Given the description of an element on the screen output the (x, y) to click on. 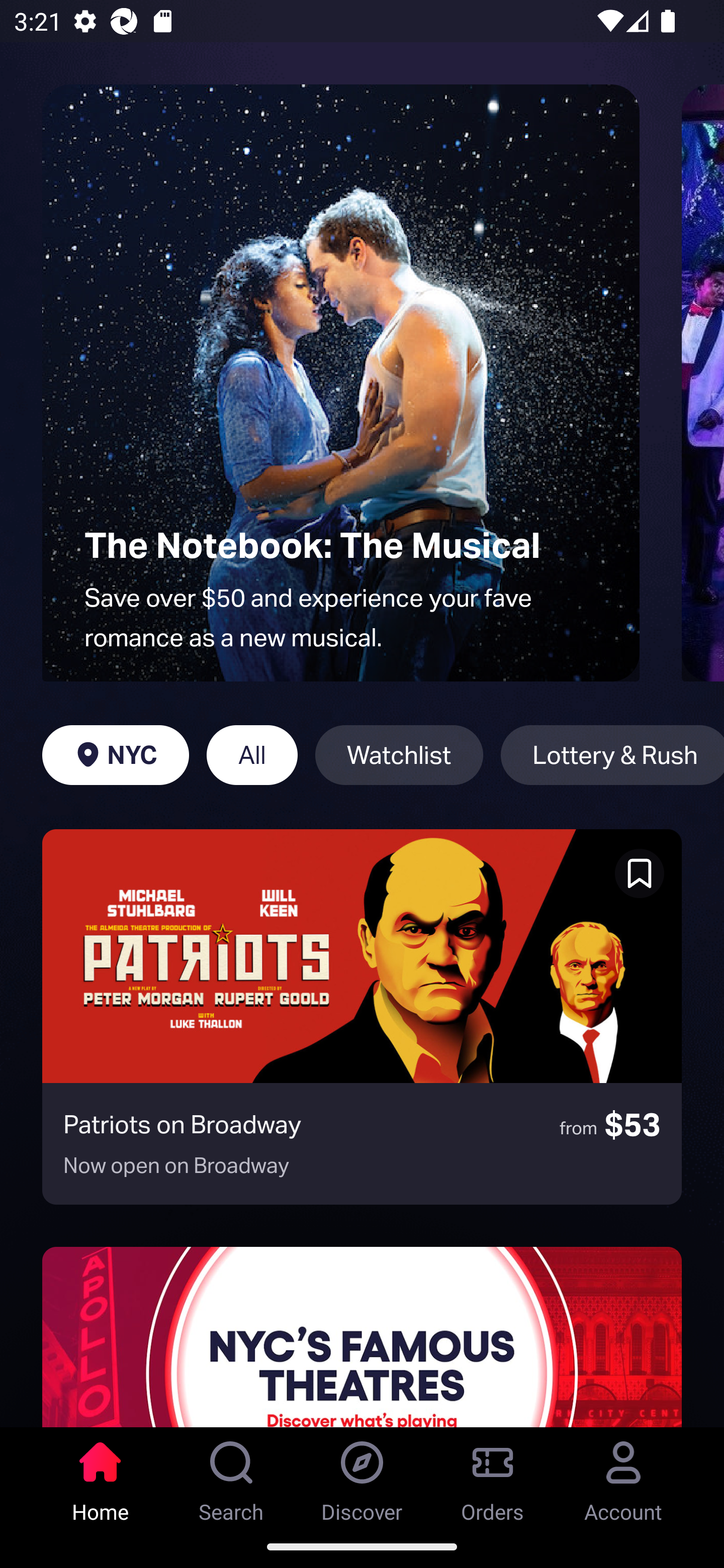
NYC (114, 754)
All (251, 754)
Watchlist (398, 754)
Lottery & Rush (612, 754)
Patriots on Broadway from $53 Now open on Broadway (361, 1016)
Search (230, 1475)
Discover (361, 1475)
Orders (492, 1475)
Account (623, 1475)
